Given the description of an element on the screen output the (x, y) to click on. 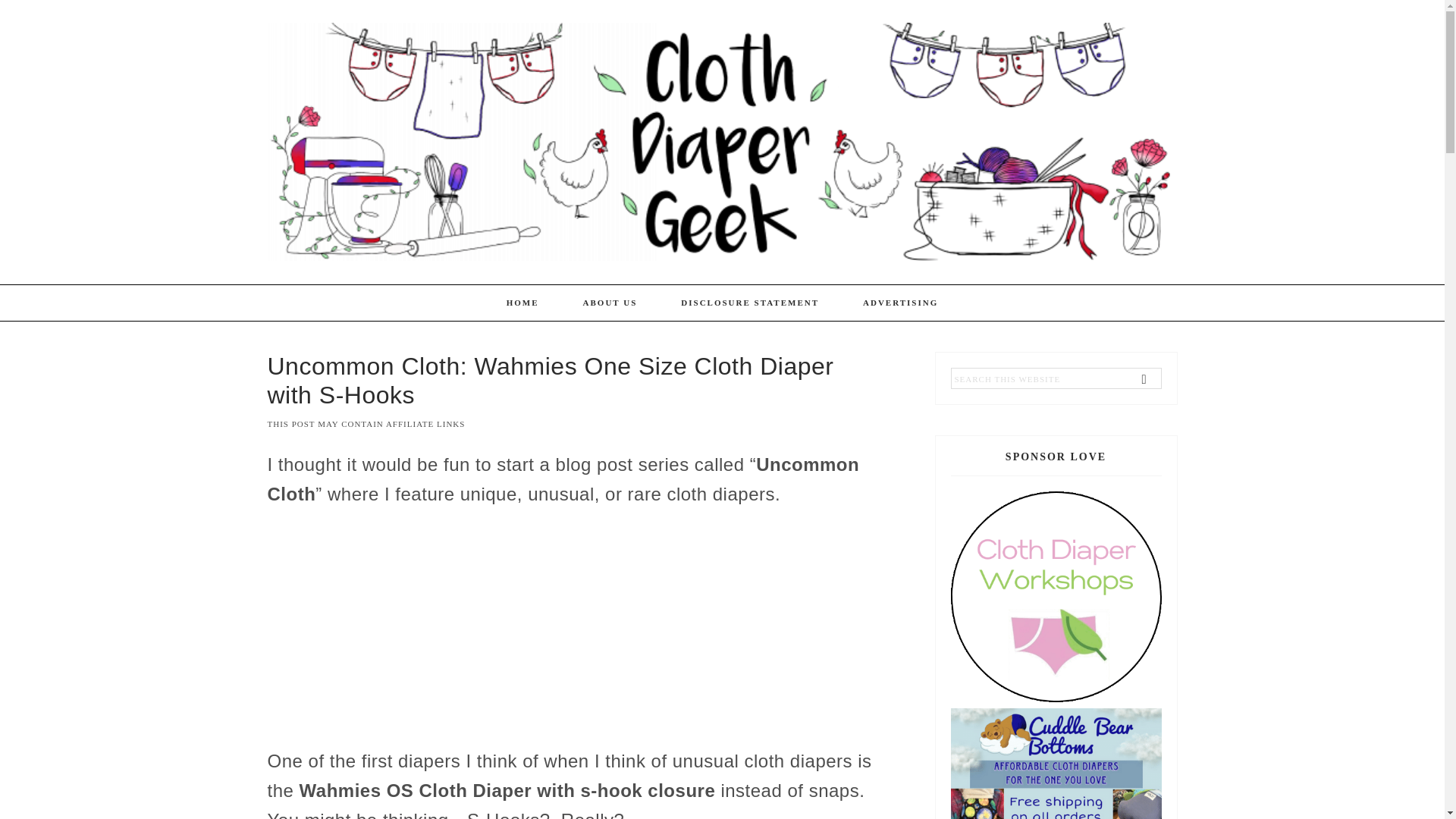
ABOUT US (610, 302)
DISCLOSURE STATEMENT (750, 302)
ADVERTISING (900, 302)
HOME (522, 302)
